Given the description of an element on the screen output the (x, y) to click on. 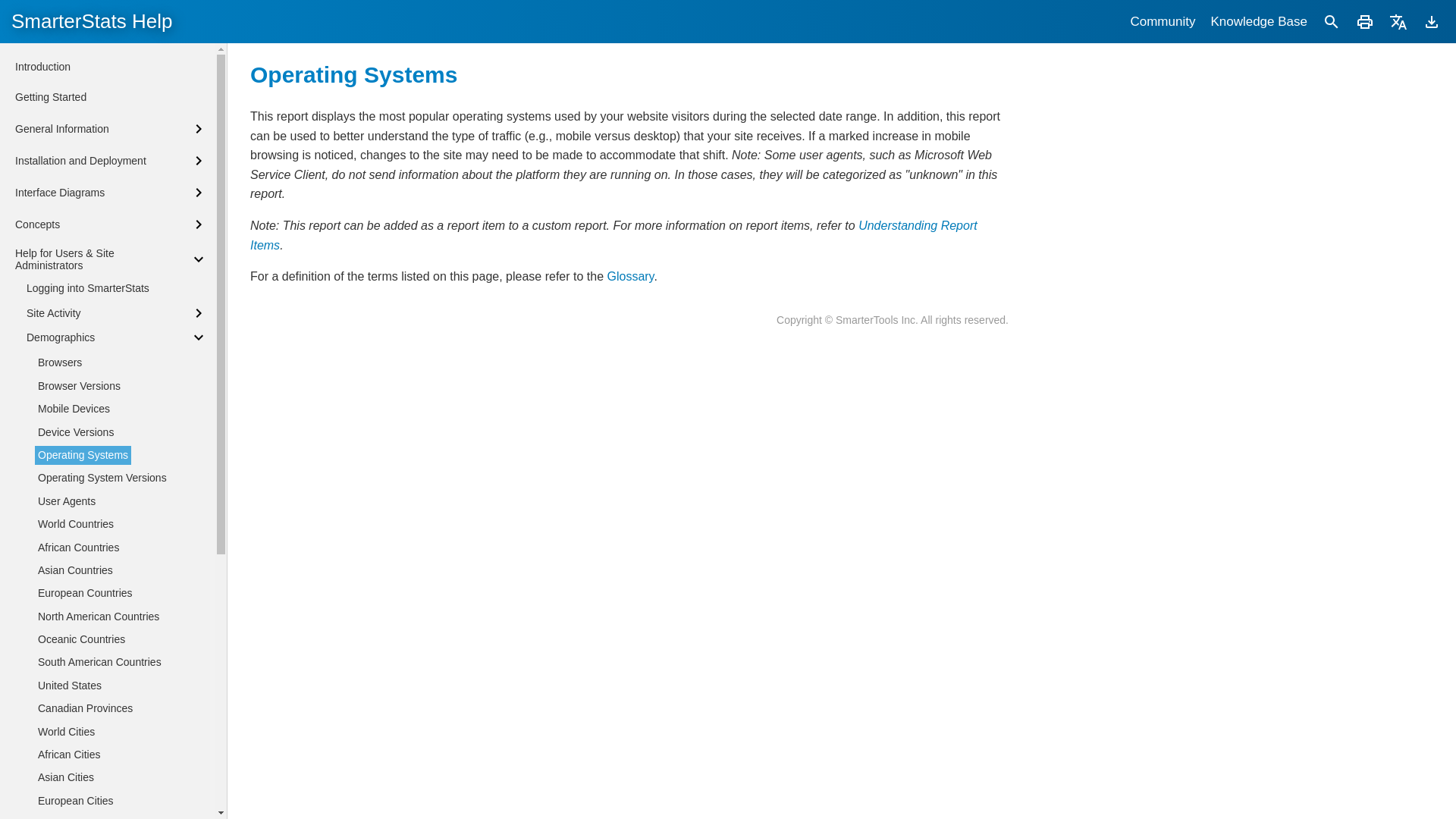
Understanding Report Items (613, 235)
Interface Diagrams (111, 192)
General Information (111, 128)
Installation and Deployment (111, 160)
Concepts (111, 224)
Site Activity (117, 312)
Knowledge Base (1258, 21)
SmarterStats Help (91, 21)
Introduction (41, 66)
Getting Started (49, 97)
Glossary (630, 276)
Logging into SmarterStats (87, 287)
Community (1162, 21)
